Given the description of an element on the screen output the (x, y) to click on. 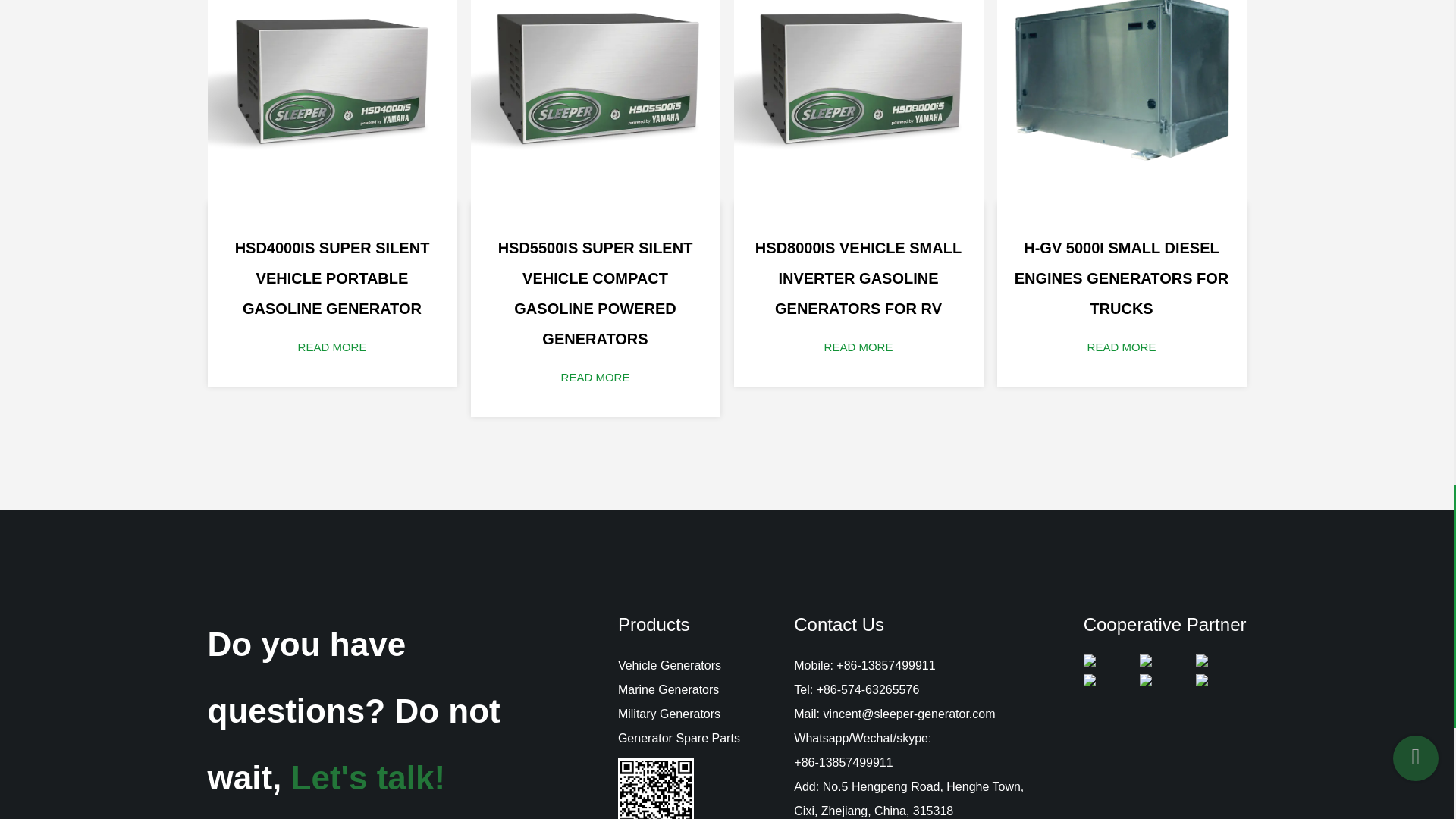
HSD8000iS Vehicle Small Inverter Gasoline Generators for rv (858, 101)
H-GV 5000i Small Diesel Engines Generators for Trucks (1120, 101)
HSD4000iS Super Silent Vehicle Portable Gasoline Generator (332, 101)
